Given the description of an element on the screen output the (x, y) to click on. 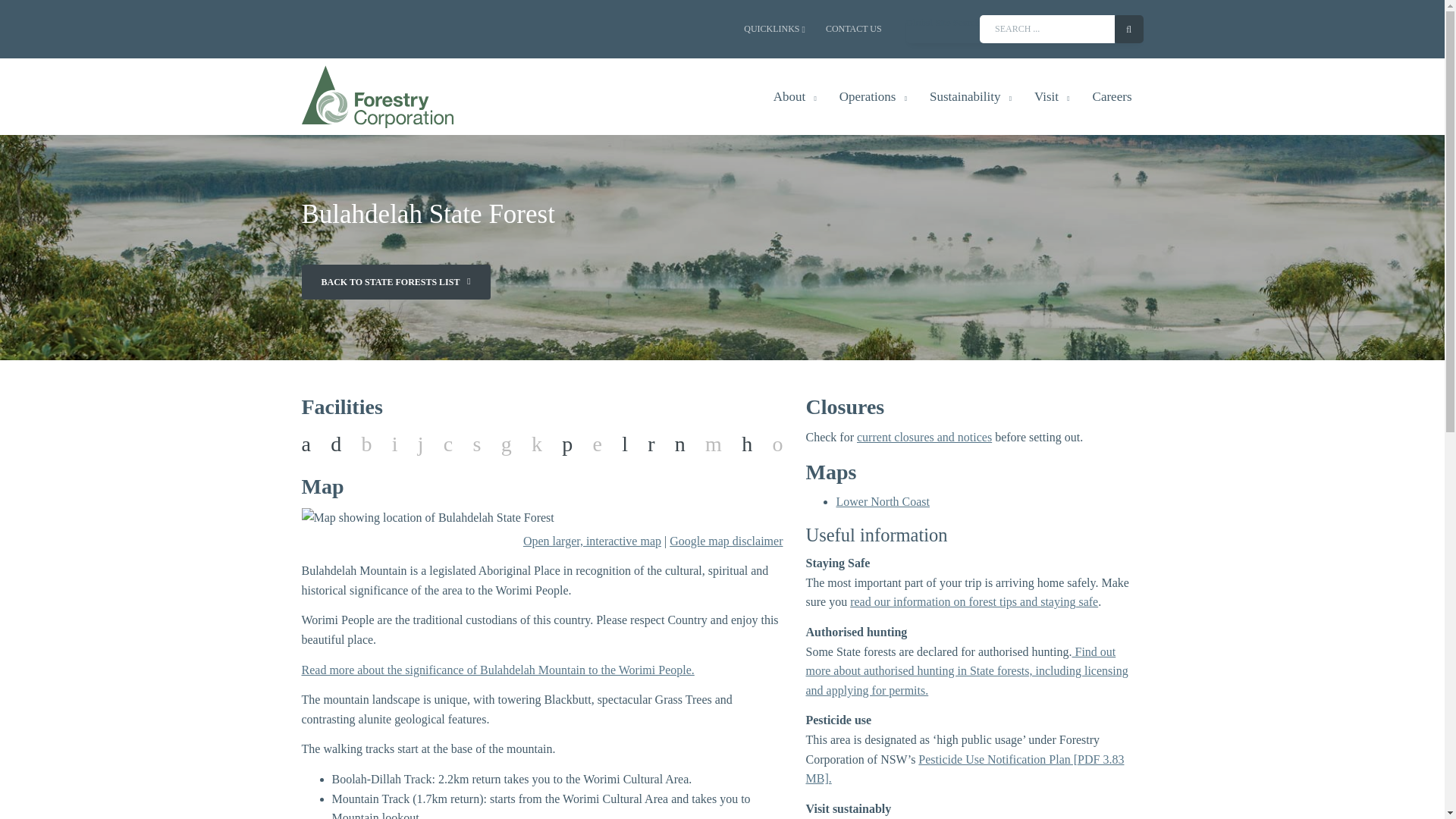
QUICKLINKS (774, 28)
CONTACT US (853, 28)
About (794, 96)
Operations (873, 96)
Sustainability (970, 96)
